Given the description of an element on the screen output the (x, y) to click on. 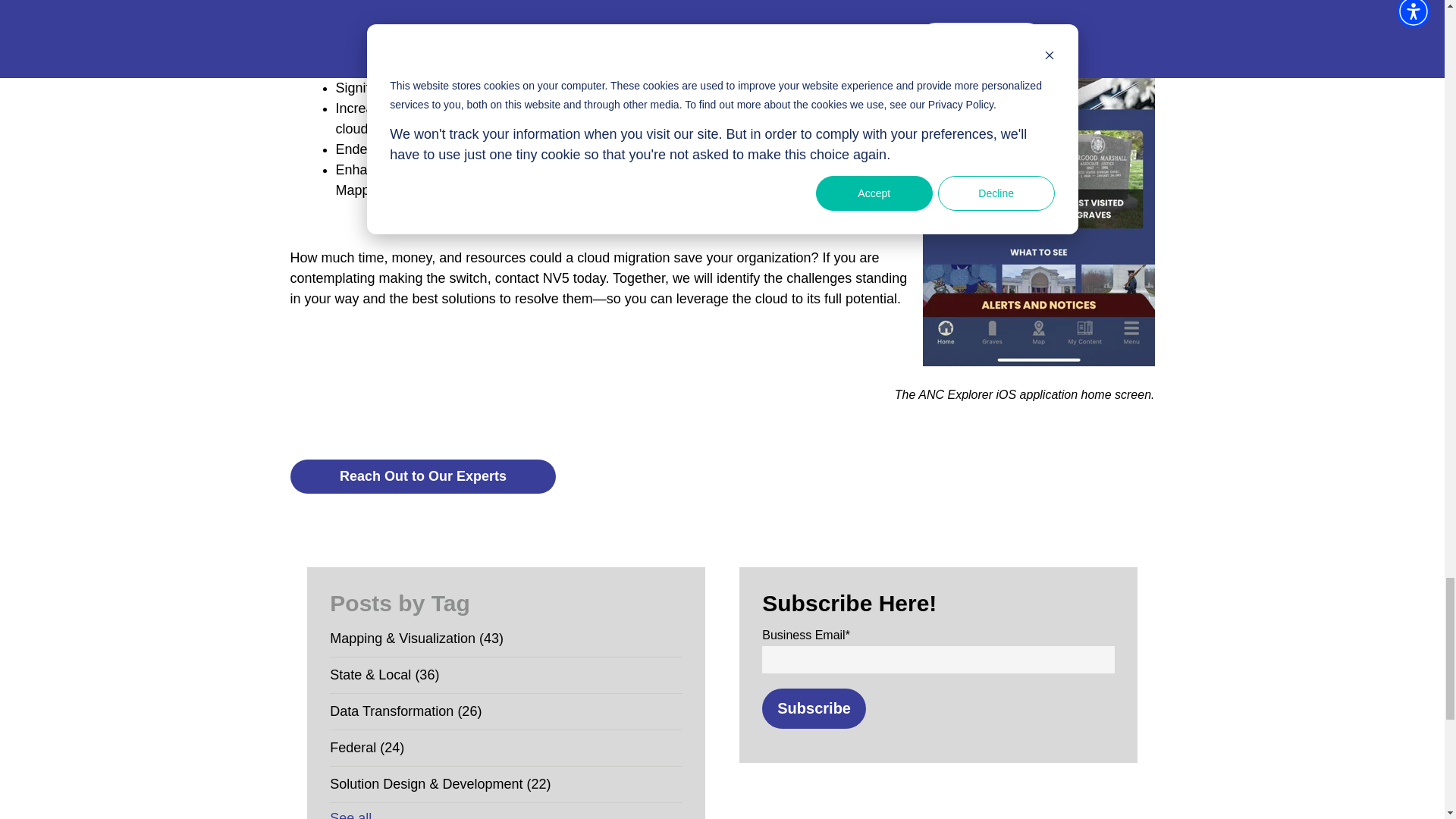
Embedded CTA (421, 476)
Subscribe (813, 708)
